Given the description of an element on the screen output the (x, y) to click on. 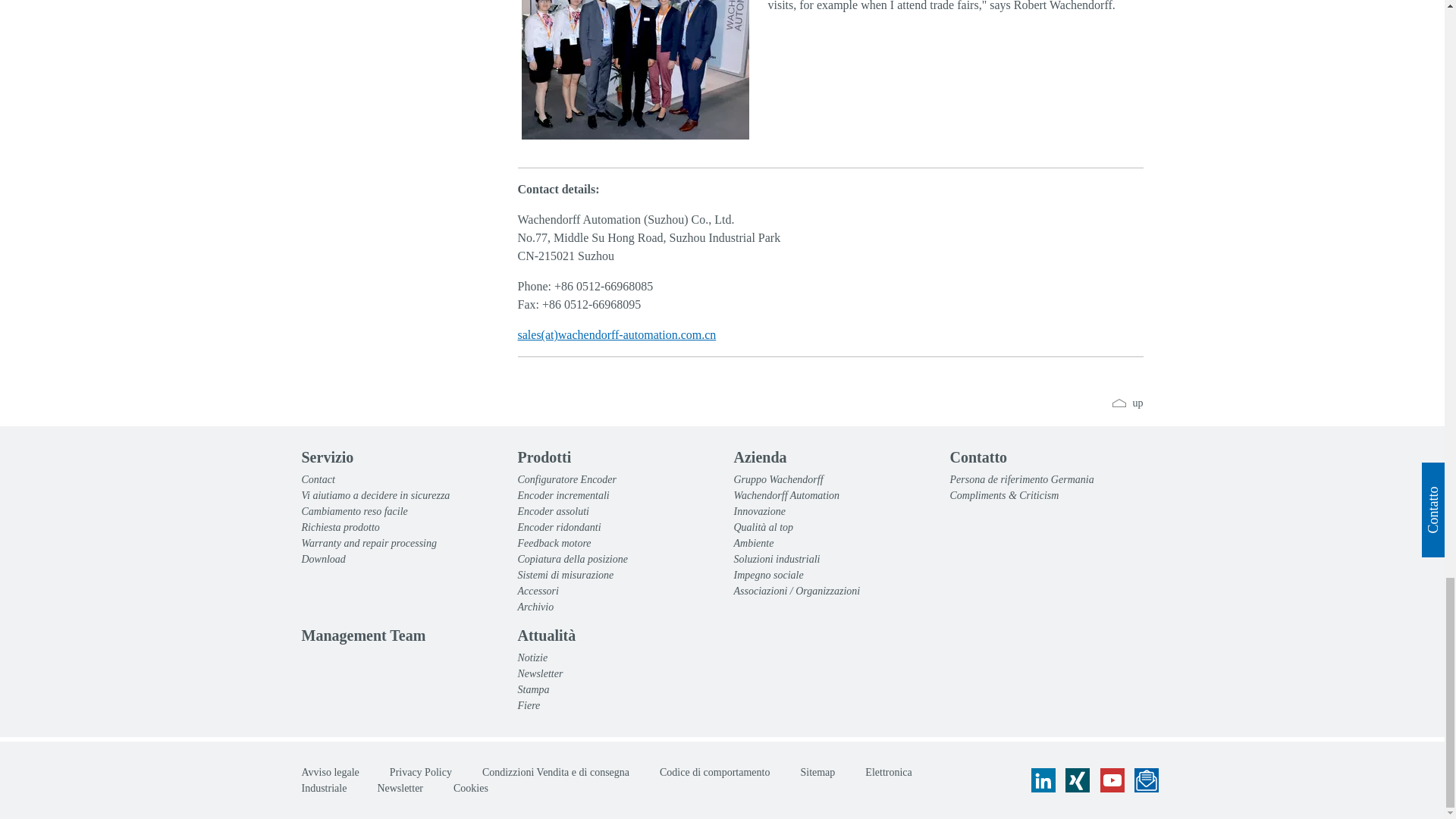
up (1127, 402)
